Given the description of an element on the screen output the (x, y) to click on. 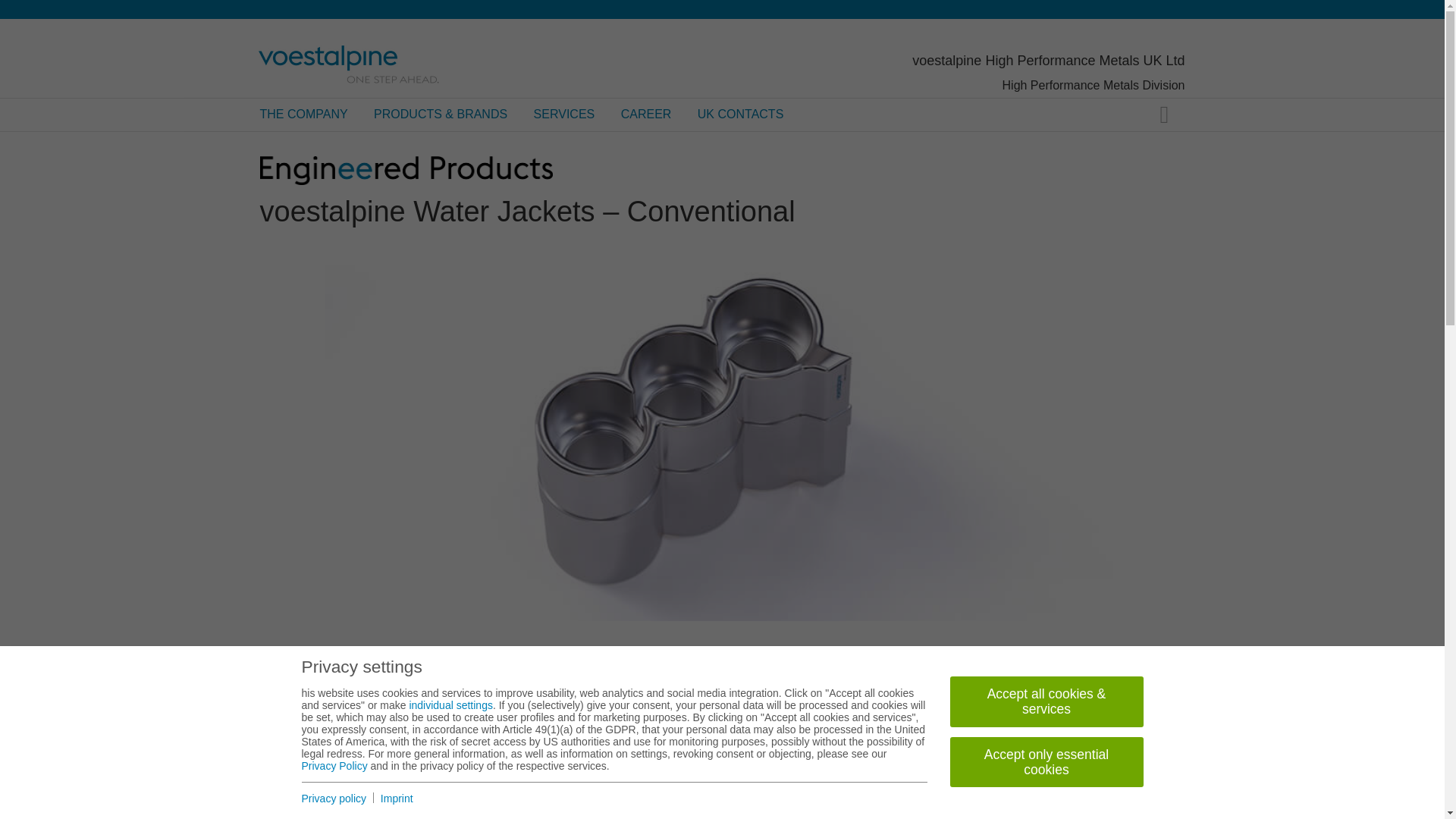
CAREER (646, 114)
THE COMPANY (303, 113)
UK CONTACTS (739, 113)
SERVICES (564, 113)
voestalpine High Performance Metals UK Ltd (1048, 60)
High Performance Metals Division (1094, 85)
